Given the description of an element on the screen output the (x, y) to click on. 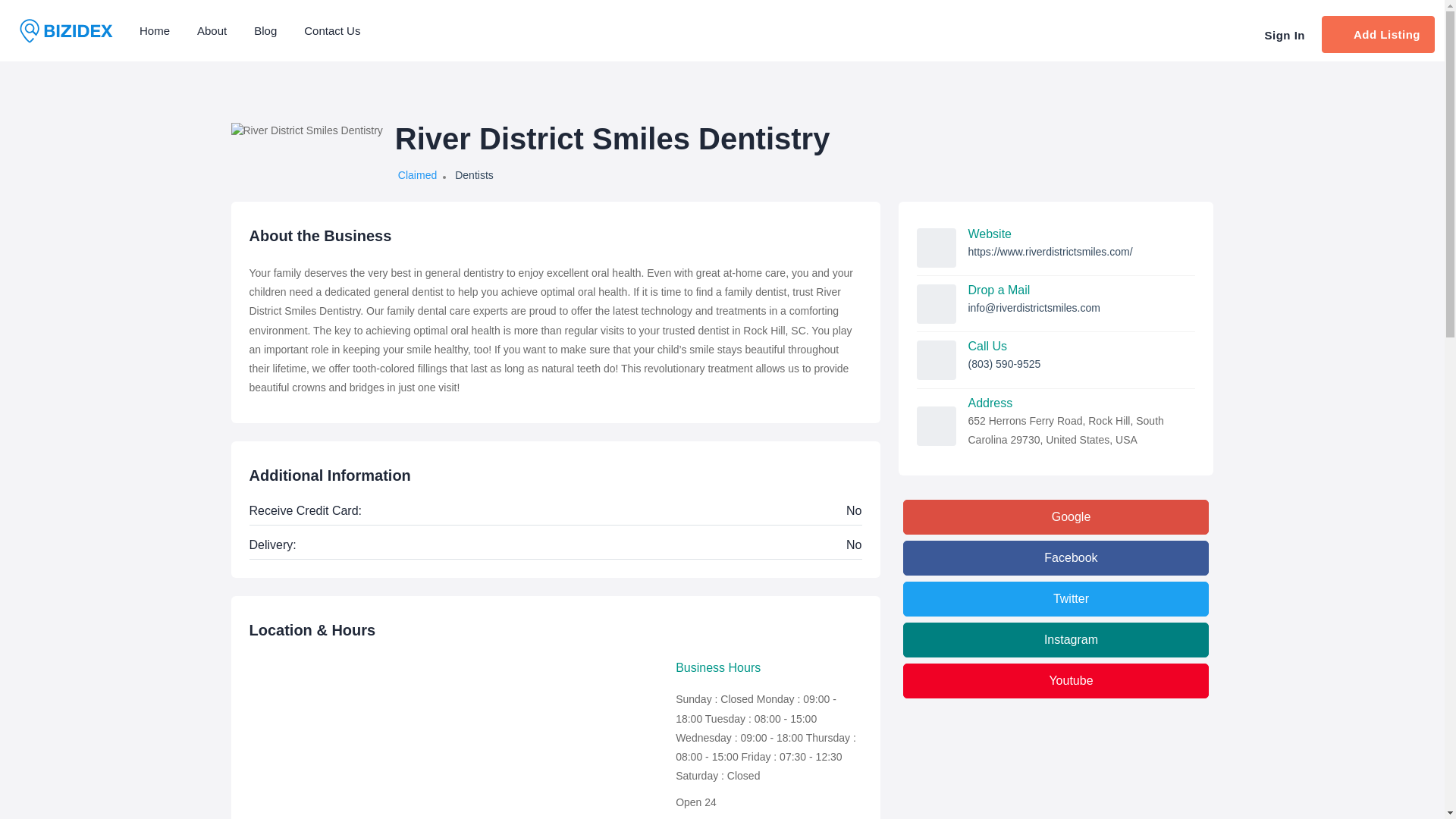
Twitter (1055, 598)
Google (1055, 516)
Dentists (473, 174)
Contact Us (331, 30)
Instagram (1055, 639)
Home (154, 30)
Sign In (1283, 35)
Blog (264, 30)
Youtube (1055, 680)
Add Listing (1378, 34)
